Given the description of an element on the screen output the (x, y) to click on. 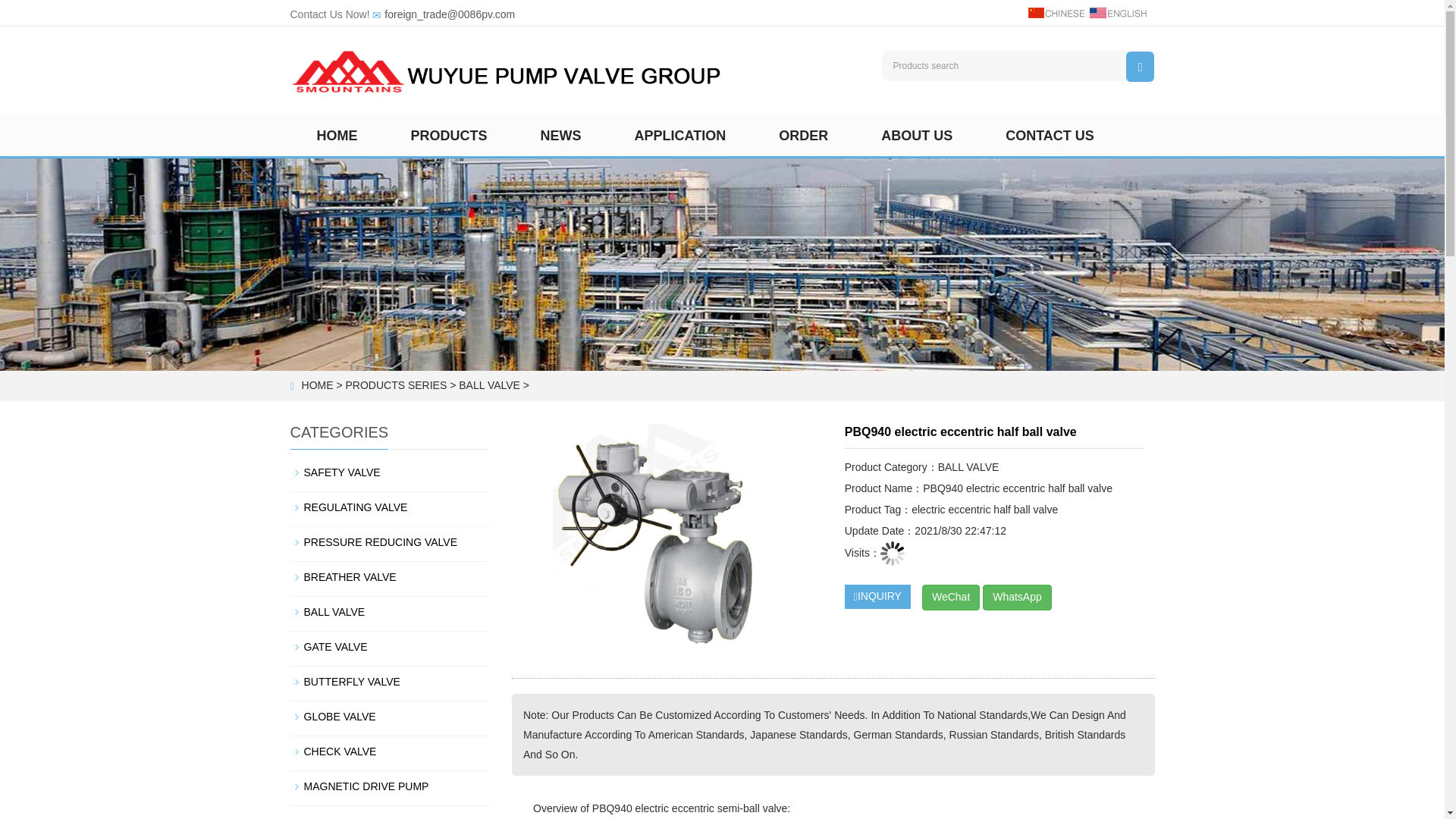
HOME (317, 385)
INQUIRY (877, 596)
APPLICATION (680, 135)
ABOUT US (916, 135)
HOME (336, 135)
CONTACT US (1049, 135)
ORDER (803, 135)
WeChat (950, 597)
PRODUCTS SERIES (395, 385)
WhatsApp (1016, 597)
BALL VALVE (488, 385)
NEWS (560, 135)
PRODUCTS (448, 135)
English (1117, 11)
Chinese (1055, 11)
